Given the description of an element on the screen output the (x, y) to click on. 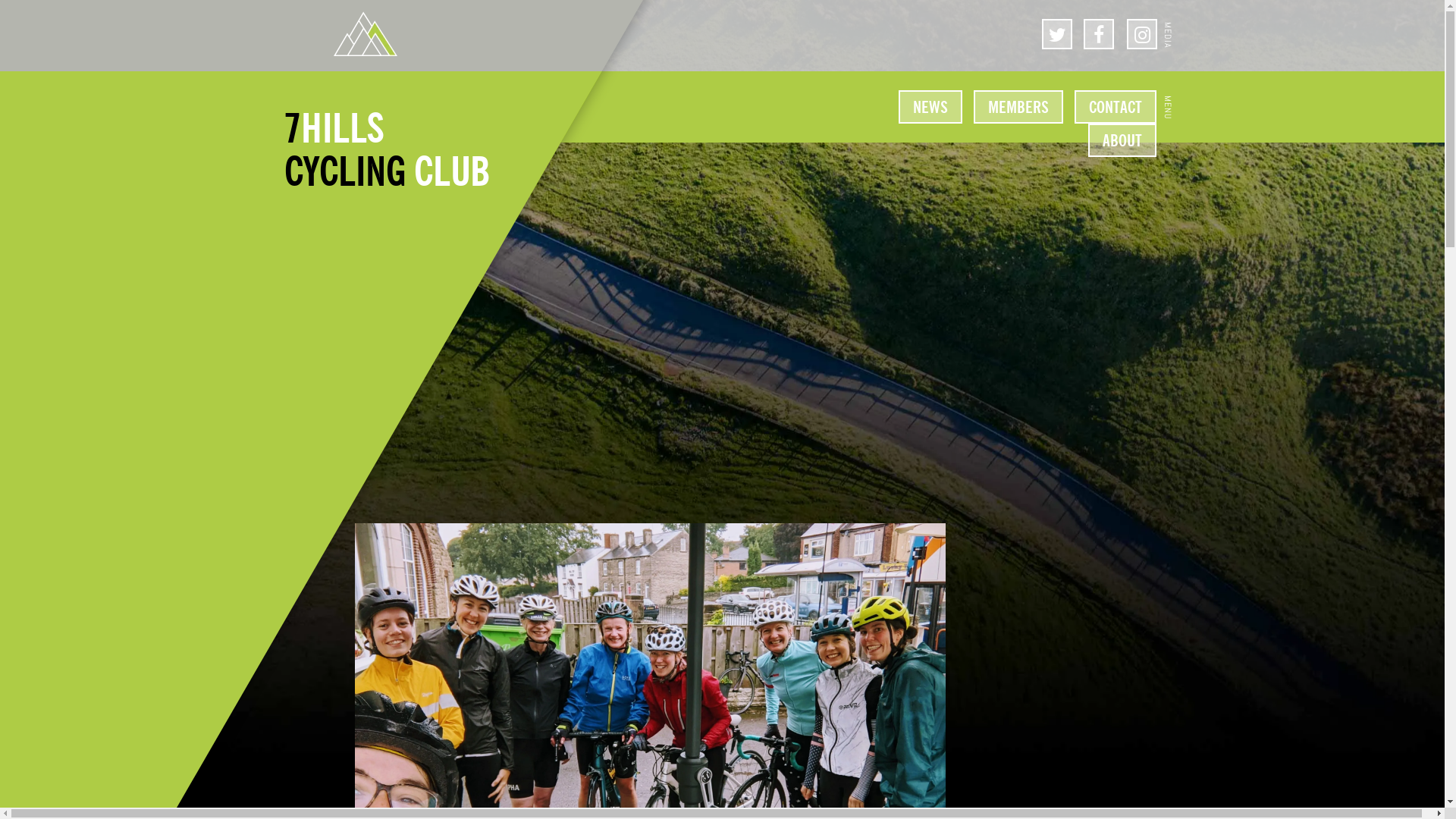
MEMBERS Element type: text (1018, 106)
NEWS Element type: text (930, 106)
CONTACT Element type: text (1115, 106)
ABOUT Element type: text (1122, 139)
